Given the description of an element on the screen output the (x, y) to click on. 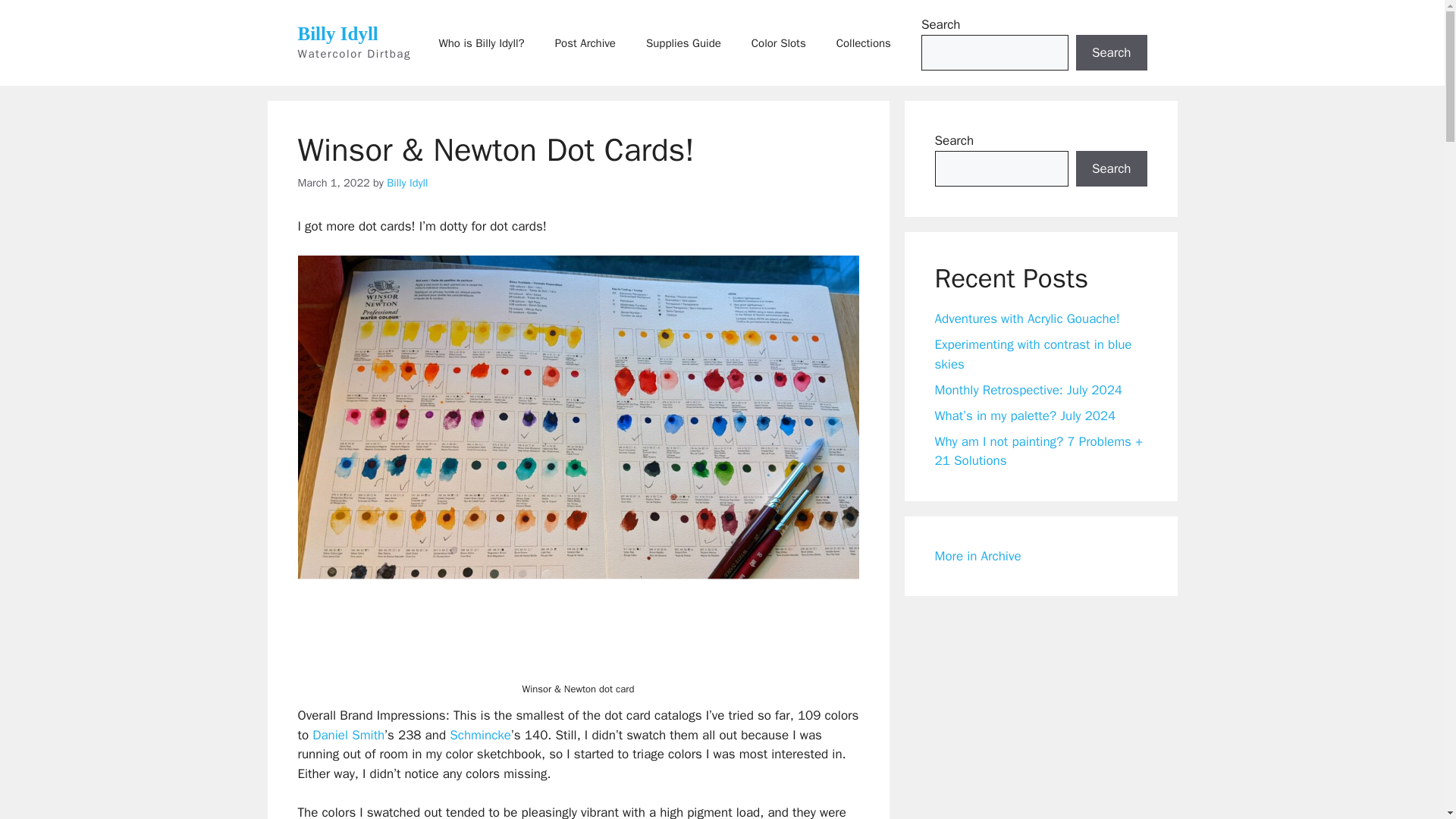
Experimenting with contrast in blue skies (1032, 354)
Who is Billy Idyll? (480, 42)
Daniel Smith (348, 734)
Billy Idyll (407, 182)
Adventures with Acrylic Gouache! (1026, 318)
Post Archive (585, 42)
More in Archive (977, 555)
View all posts by Billy Idyll (407, 182)
Schmincke (480, 734)
Monthly Retrospective: July 2024 (1028, 390)
